Given the description of an element on the screen output the (x, y) to click on. 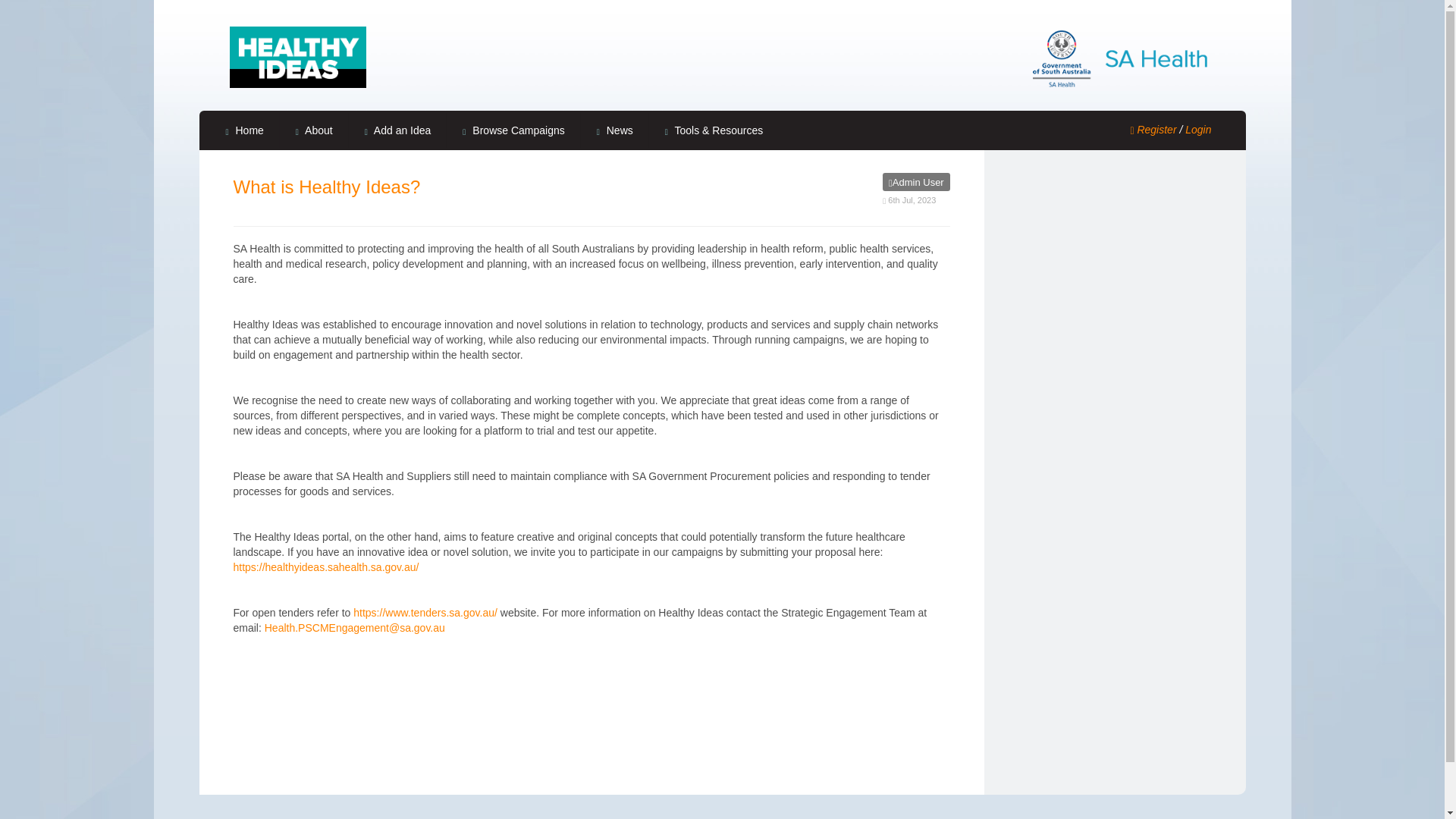
About (314, 130)
Browse Campaigns (512, 130)
Add an Idea (397, 130)
News (614, 130)
Login (1198, 129)
Register (1152, 129)
